Given the description of an element on the screen output the (x, y) to click on. 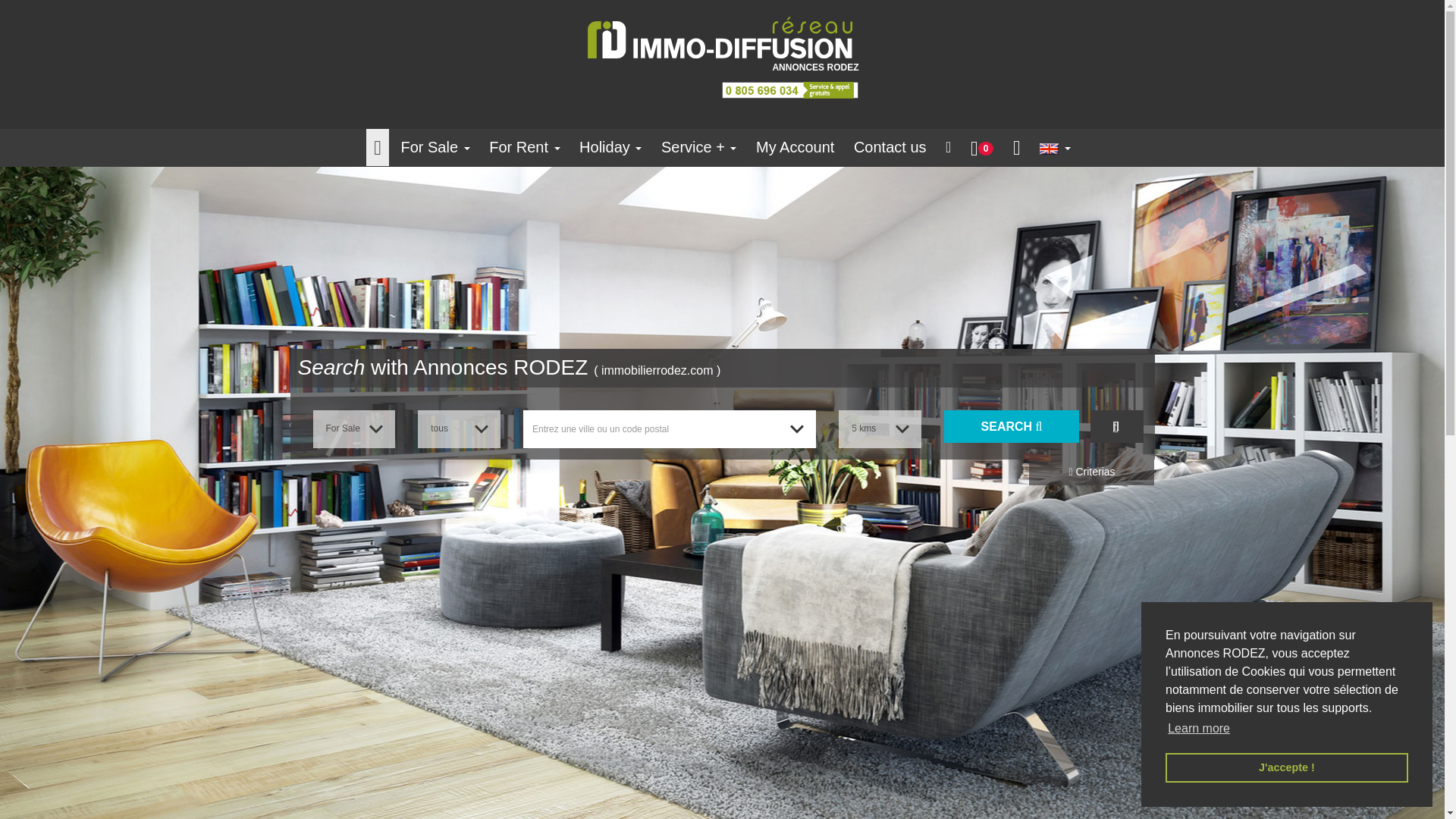
0 (981, 147)
Holiday (610, 147)
J'accepte ! (1286, 767)
Contact us (889, 147)
For Rent (524, 147)
Learn more (1198, 728)
For Rent - Annonces RODEZ immobilier Rodez (524, 147)
My Account (794, 147)
For Sale - Annonces RODEZ immobilier Rodez (435, 147)
Criterias (1091, 472)
Home - Annonces RODEZ  (722, 38)
Holiday - Annonces RODEZ immobilier Rodez (610, 147)
Contact us - Annonces RODEZ immobilier Rodez (889, 147)
For Sale (435, 147)
immobilier rodez (790, 90)
